Given the description of an element on the screen output the (x, y) to click on. 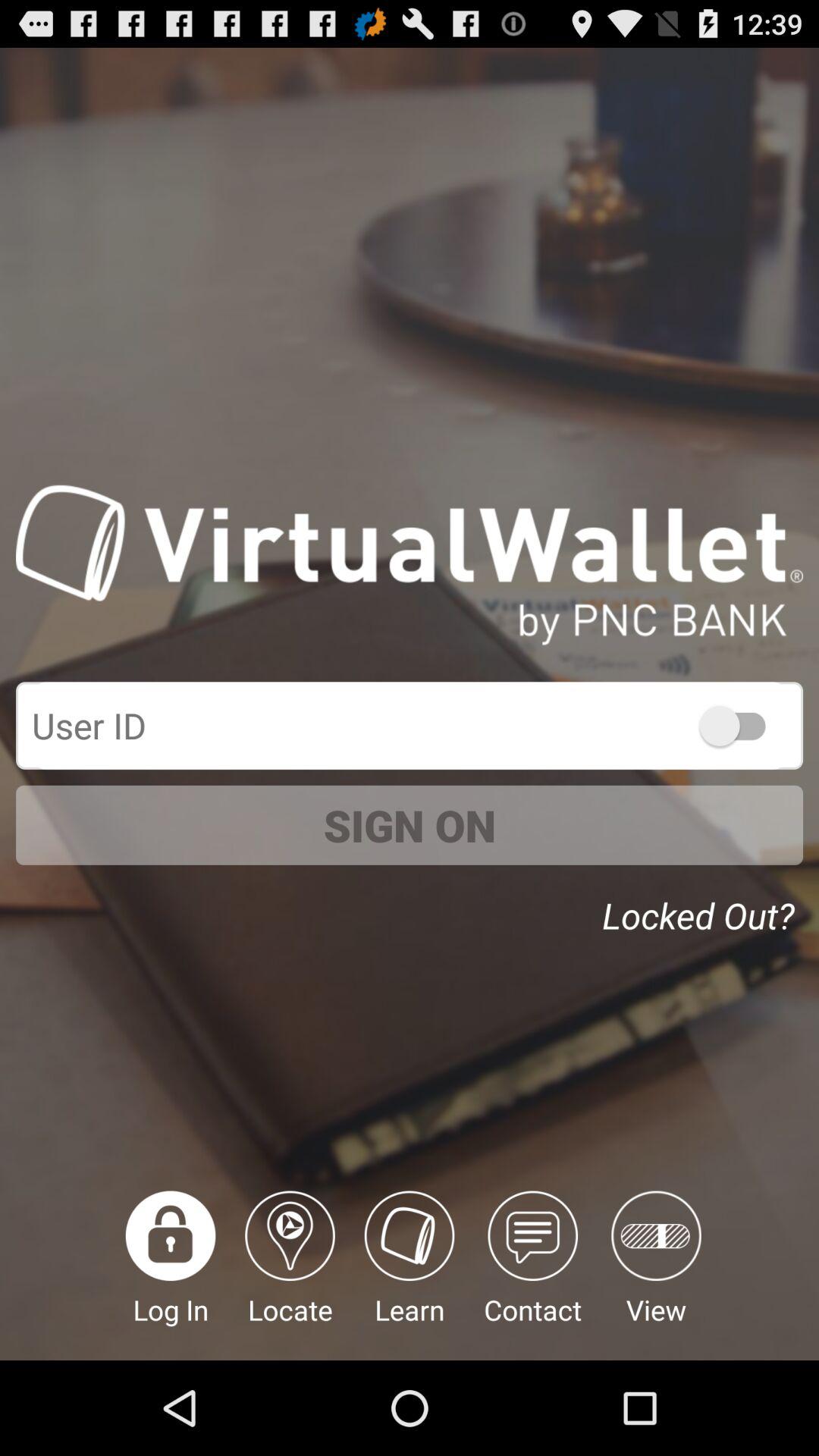
launch the item next to contact (409, 1275)
